Given the description of an element on the screen output the (x, y) to click on. 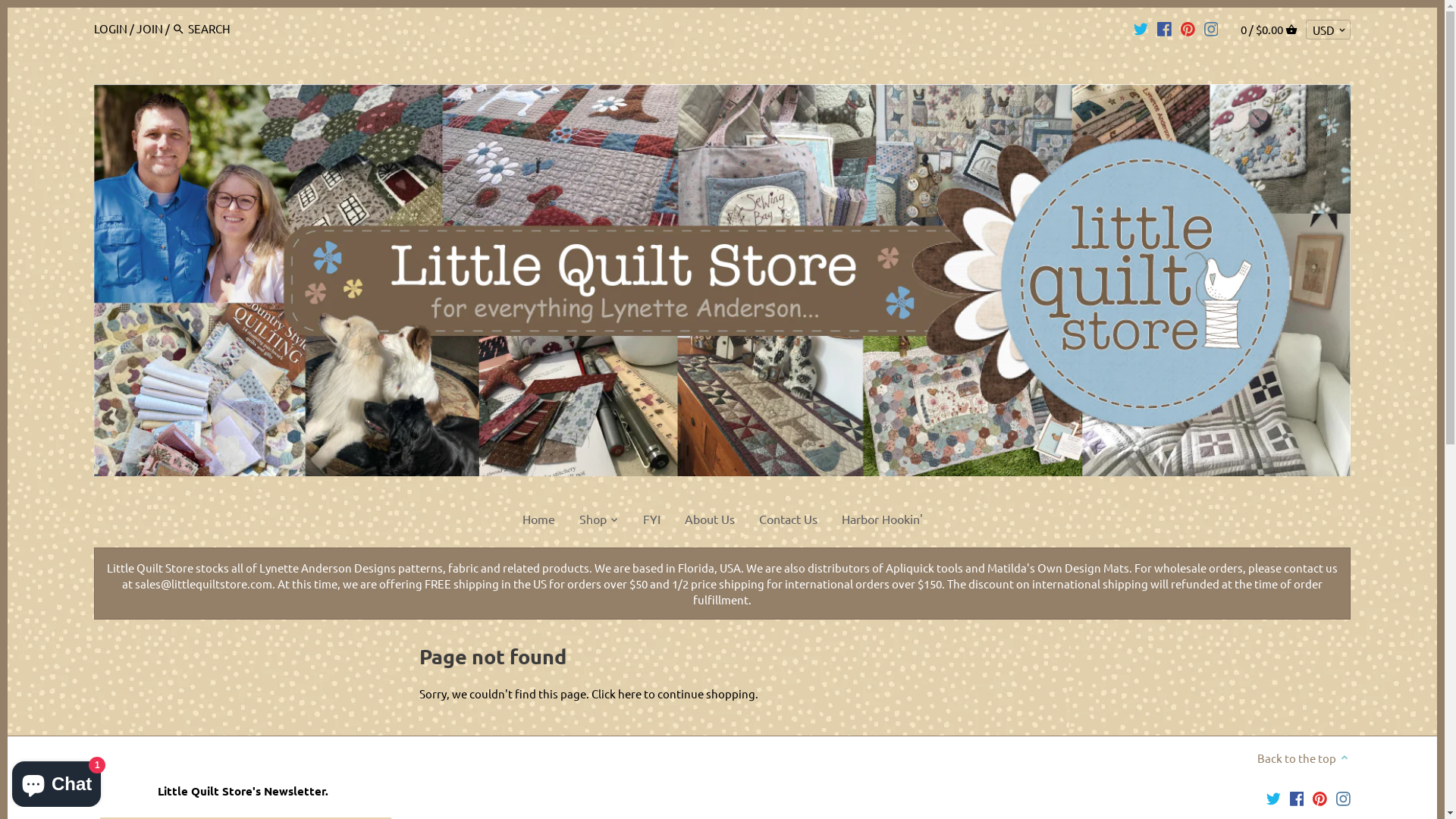
Facebook Element type: text (1296, 796)
Contact Us Element type: text (787, 521)
FYI Element type: text (651, 521)
JOIN Element type: text (149, 28)
About Us Element type: text (708, 521)
LOGIN Element type: text (110, 28)
TWITTER Element type: text (1140, 27)
Shopify online store chat Element type: hover (56, 780)
Home Element type: text (537, 521)
INSTAGRAM Element type: text (1211, 27)
Instagram Element type: text (1343, 796)
0 / $0.00 CART Element type: text (1268, 28)
Back to the top Element type: text (1303, 756)
Pinterest Element type: text (1319, 796)
FACEBOOK Element type: text (1164, 27)
Twitter Element type: text (1273, 796)
Click here Element type: text (616, 693)
Harbor Hookin' Element type: text (882, 521)
Search Element type: text (178, 29)
Shop Element type: text (592, 521)
PINTEREST Element type: text (1187, 27)
